Given the description of an element on the screen output the (x, y) to click on. 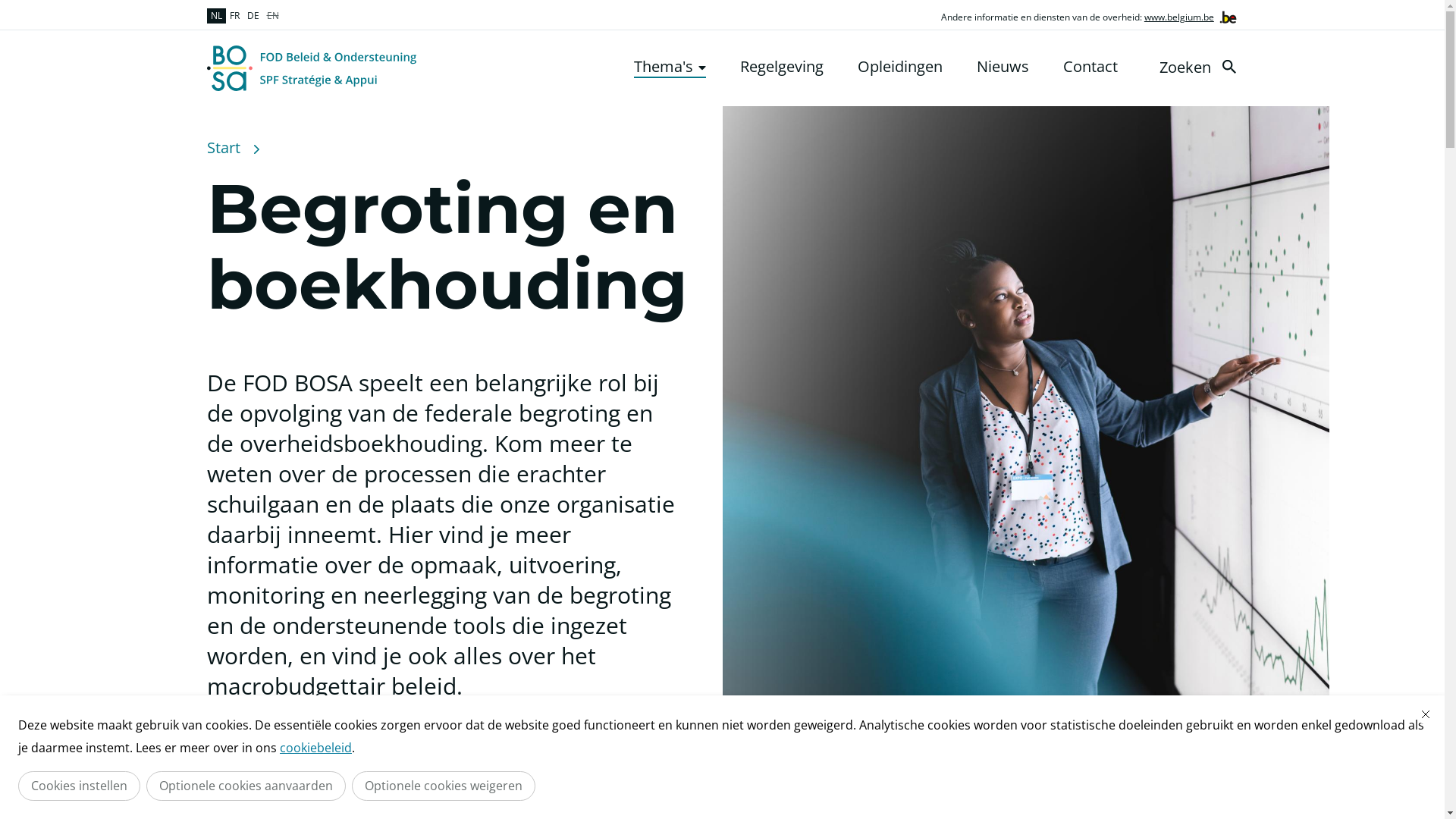
Thema's Element type: text (669, 66)
Contact Element type: text (1090, 66)
Toepassen Element type: text (1228, 66)
Opleidingen Element type: text (898, 66)
Nieuws Element type: text (1002, 66)
Start Element type: text (222, 147)
Sluiten Element type: hover (1425, 714)
Optionele cookies weigeren Element type: text (443, 785)
www.belgium.be Element type: text (1179, 16)
Back to BOSA home page Element type: hover (311, 68)
Optionele cookies aanvaarden Element type: text (245, 785)
FR Element type: text (234, 15)
Overslaan en naar de inhoud gaan Element type: text (7, 4)
Cookies instellen Element type: text (79, 785)
NL Element type: text (215, 15)
cookiebeleid Element type: text (315, 747)
Regelgeving Element type: text (781, 66)
Zoeken Element type: hover (1200, 66)
DE Element type: text (252, 15)
